Given the description of an element on the screen output the (x, y) to click on. 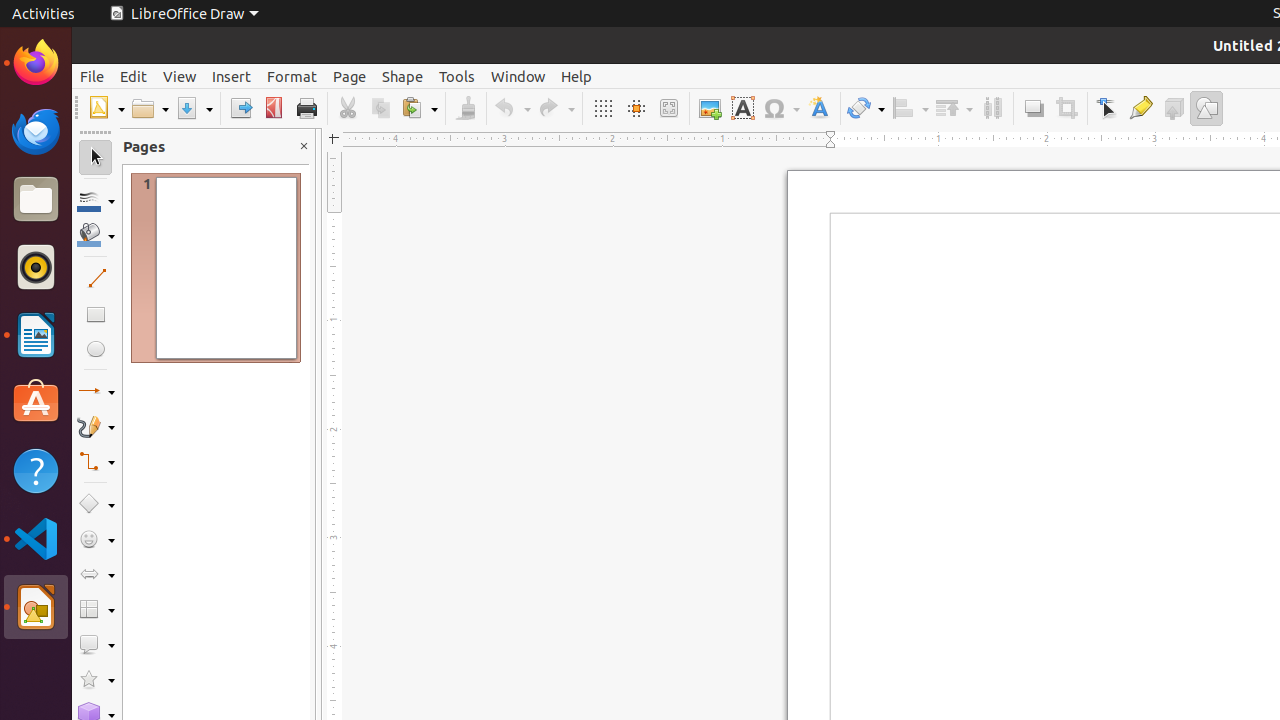
Fill Color Element type: push-button (259, 144)
Visual Studio Code Element type: push-button (36, 538)
Help Element type: menu (576, 76)
Connectors Element type: push-button (96, 461)
Tools Element type: menu (457, 76)
